Given the description of an element on the screen output the (x, y) to click on. 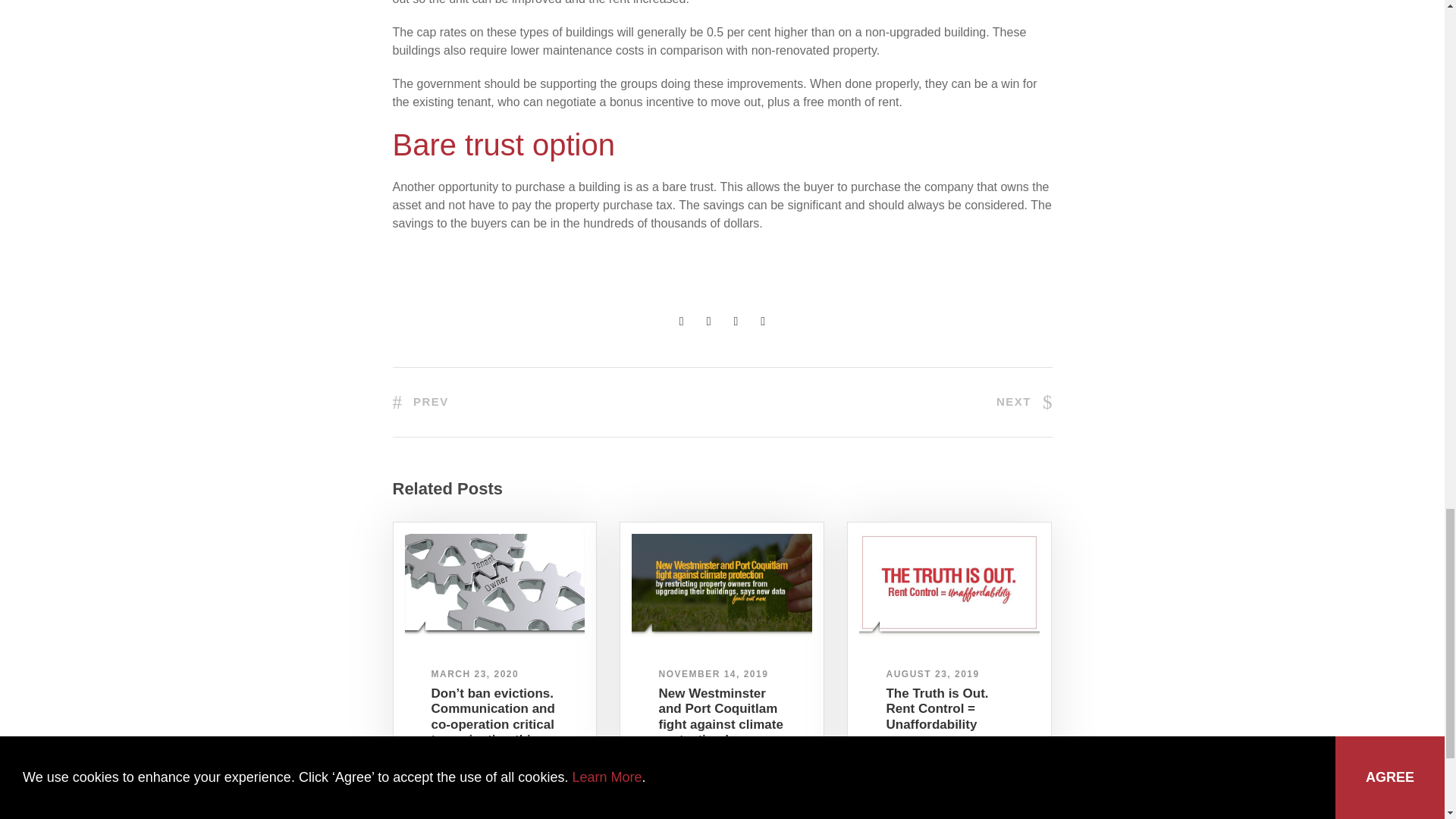
NOVEMBER 14, 2019 (713, 674)
MARCH 23, 2020 (474, 674)
NEXT (1023, 400)
PREV (420, 400)
AUGUST 23, 2019 (931, 674)
